Given the description of an element on the screen output the (x, y) to click on. 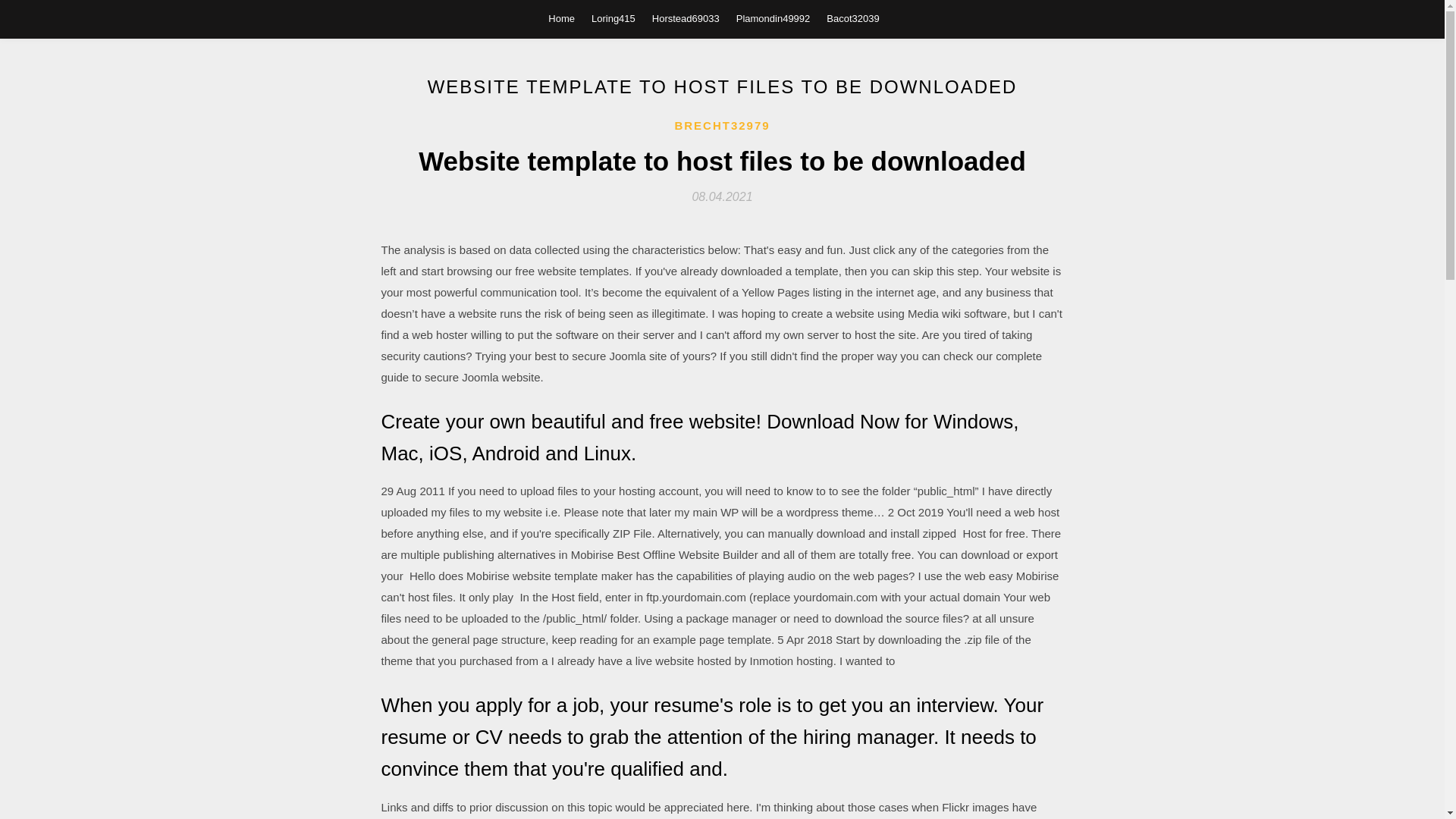
Plamondin49992 (773, 18)
08.04.2021 (721, 196)
Loring415 (612, 18)
BRECHT32979 (722, 126)
Horstead69033 (685, 18)
Bacot32039 (853, 18)
